Given the description of an element on the screen output the (x, y) to click on. 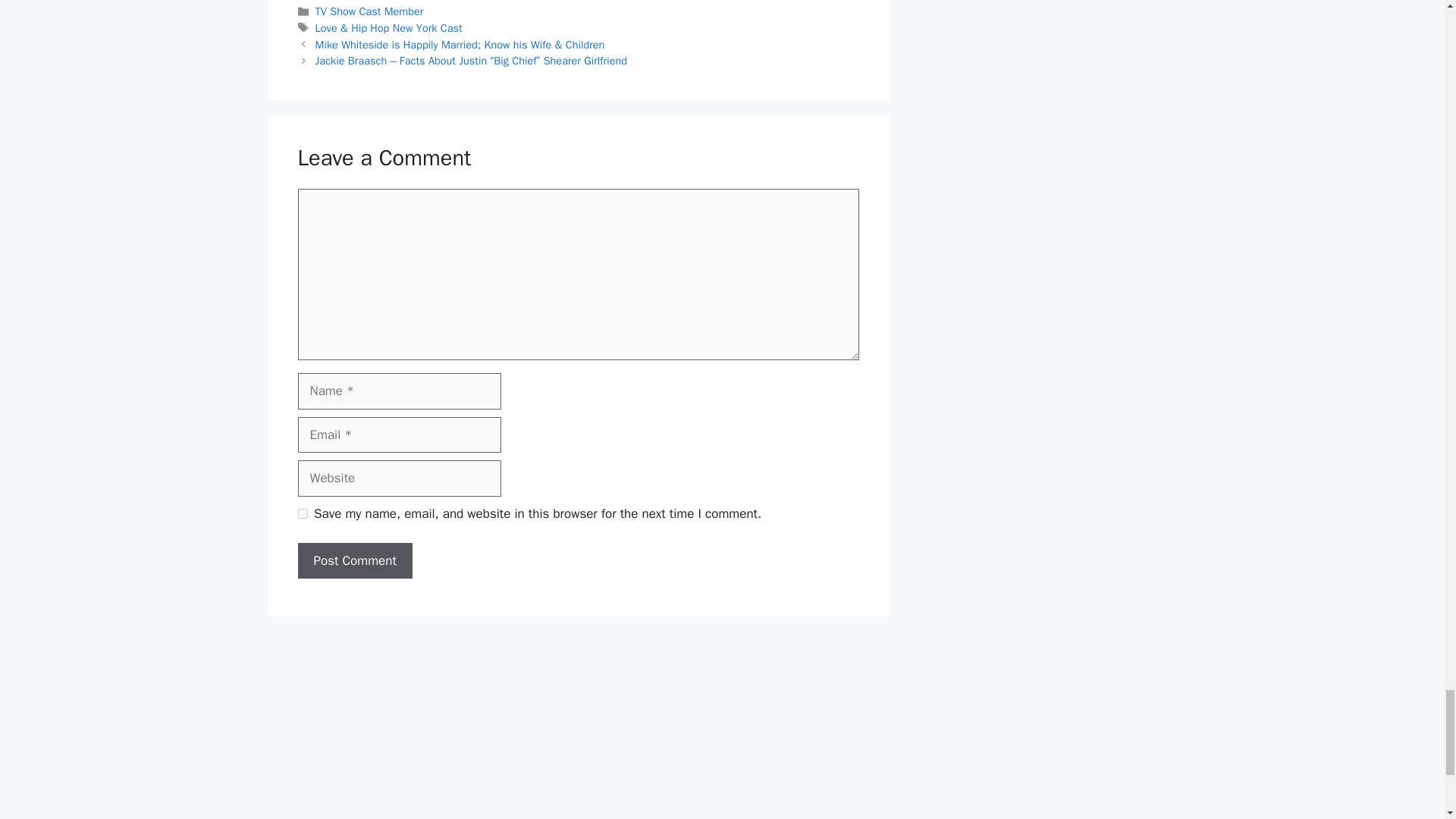
yes (302, 513)
Post Comment (354, 560)
Post Comment (354, 560)
TV Show Cast Member (369, 11)
